Given the description of an element on the screen output the (x, y) to click on. 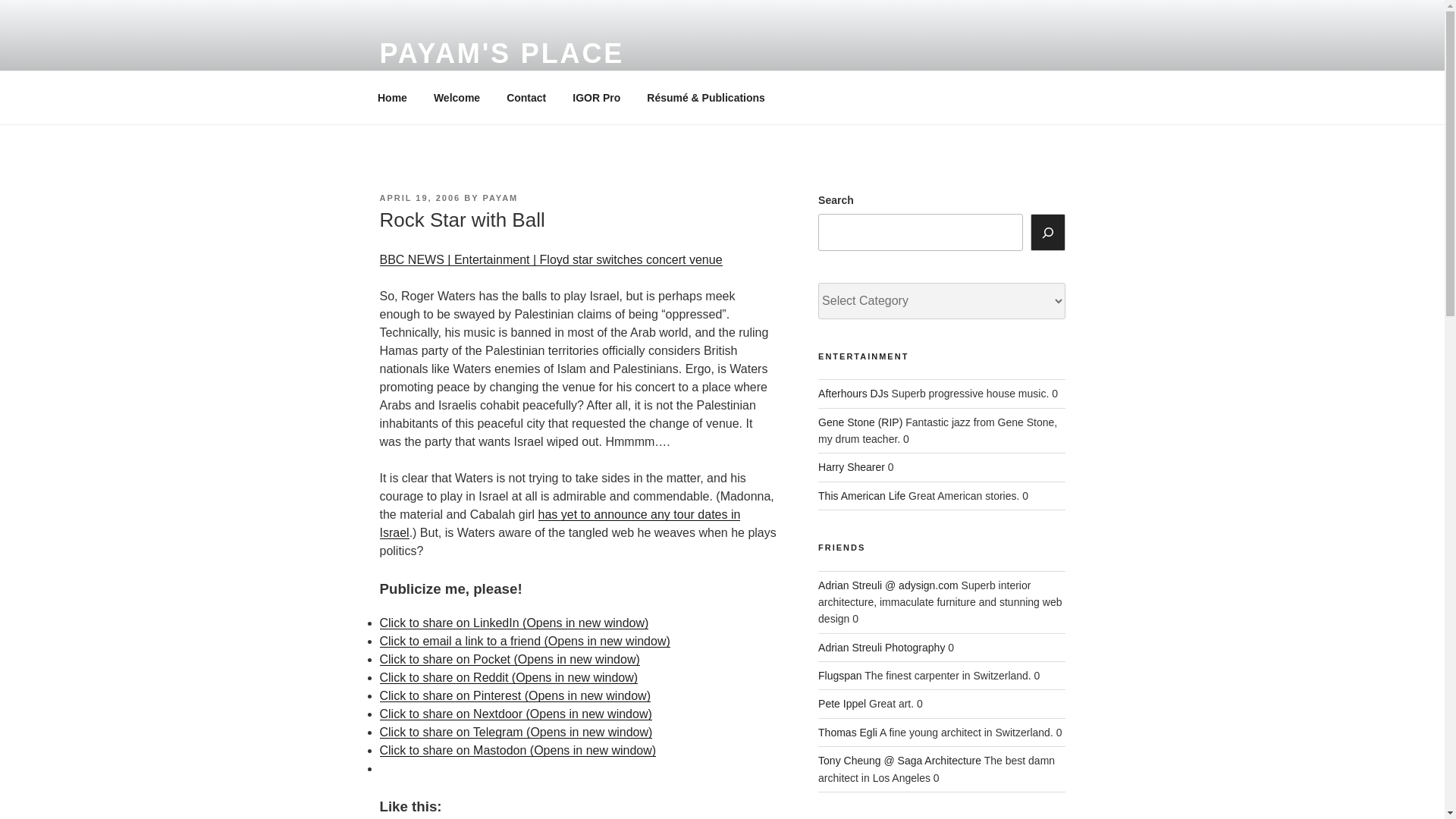
Click to share on Pinterest (514, 695)
Click to share on LinkedIn (512, 622)
Afterhours DJs (853, 393)
Thomas Egli (847, 732)
Great American stories. (861, 495)
IGOR Pro (596, 97)
Adrian Streuli Photography (881, 647)
Superb progressive house music. (853, 393)
Click to share on Pocket (508, 658)
Click to share on Nextdoor (514, 713)
Harry Shearer (851, 467)
Contact (526, 97)
APRIL 19, 2006 (419, 197)
Home (392, 97)
